Given the description of an element on the screen output the (x, y) to click on. 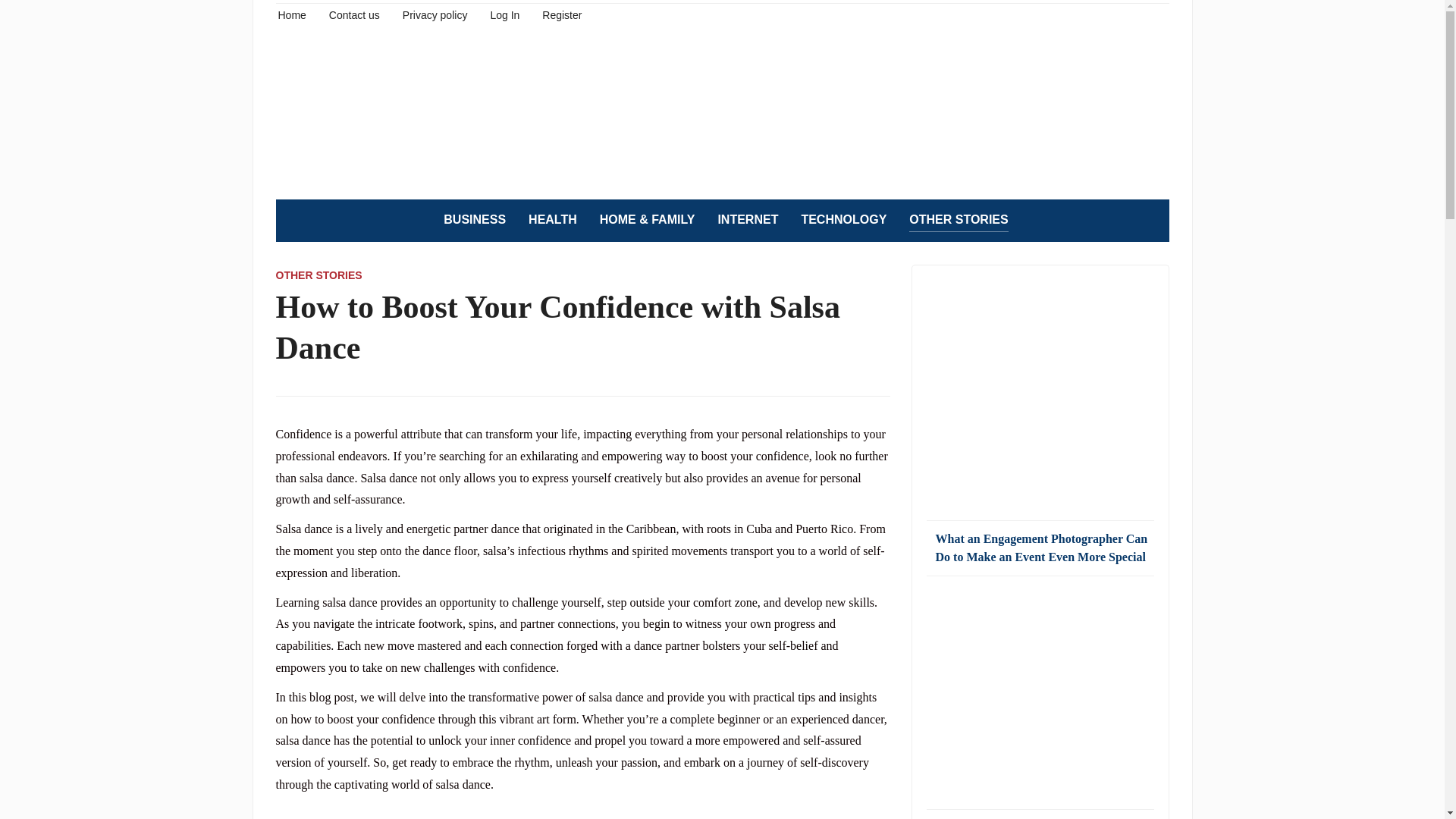
Contact us (354, 14)
Search (1149, 219)
Home (291, 14)
Register (560, 14)
Privacy policy (435, 14)
Log In (504, 14)
